Given the description of an element on the screen output the (x, y) to click on. 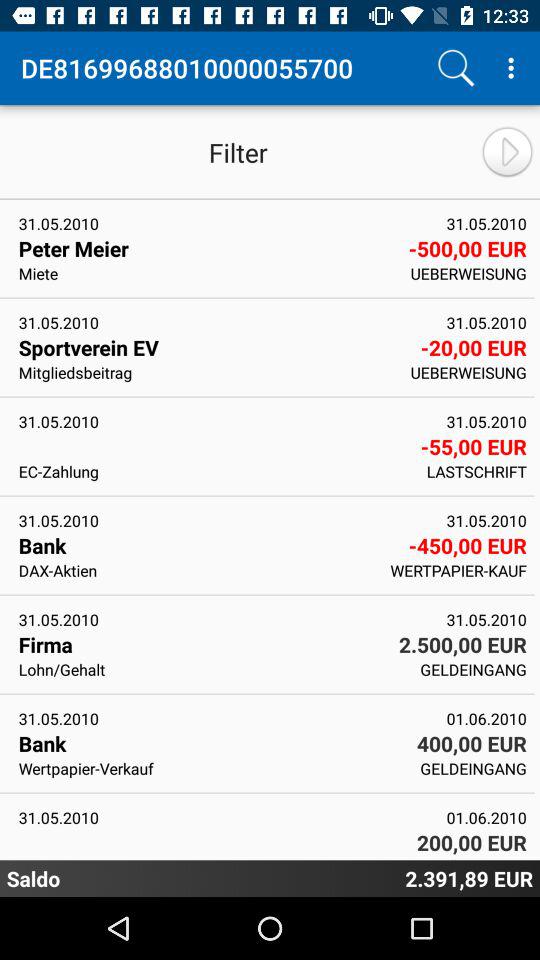
search tool (455, 67)
